Given the description of an element on the screen output the (x, y) to click on. 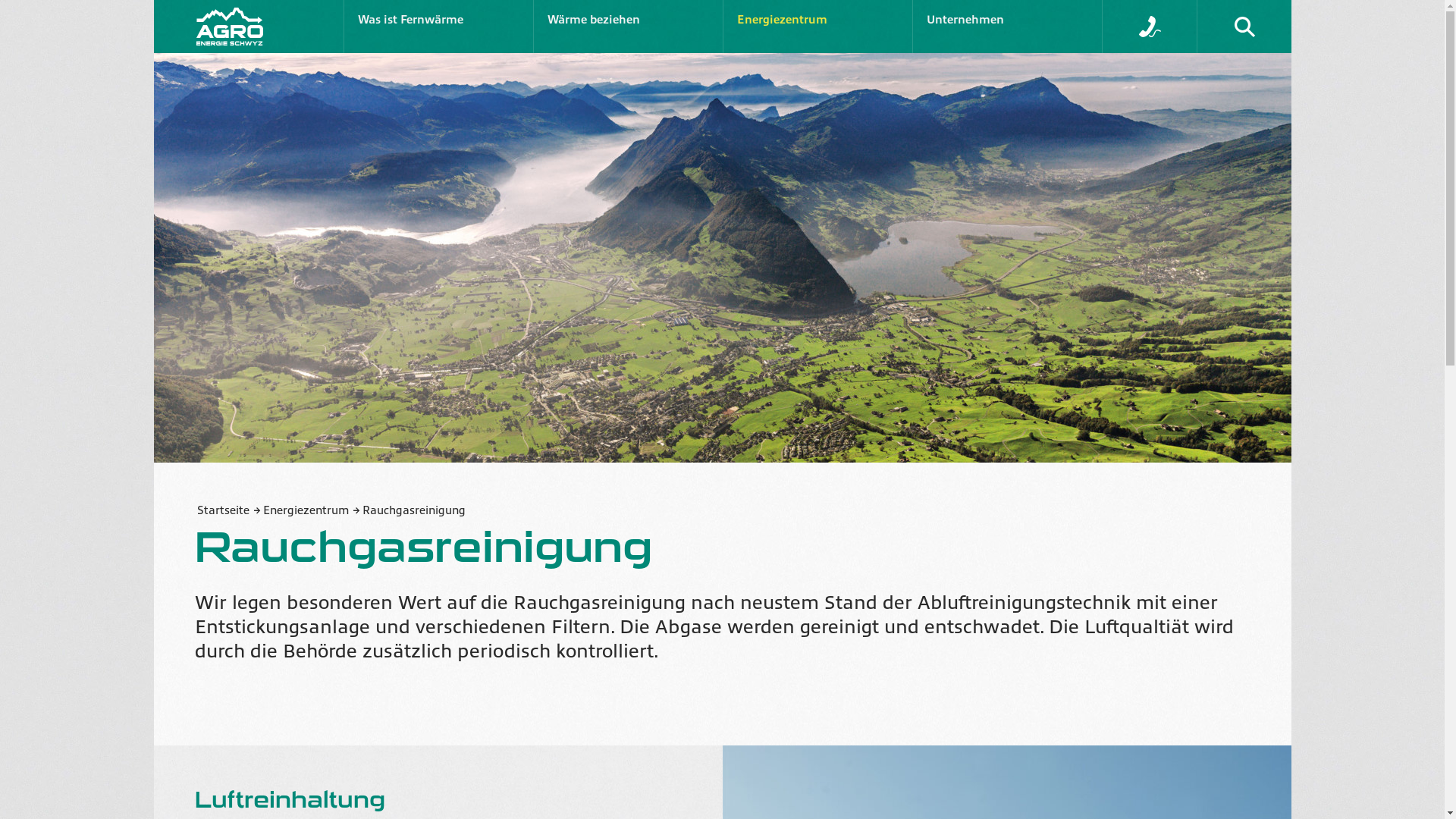
Suche Element type: text (1243, 26)
Startseite Element type: text (228, 510)
Unternehmen Element type: text (1007, 26)
Energiezentrum Element type: text (817, 26)
Agro Energie Schwyz Element type: text (247, 26)
Energiezentrum Element type: text (311, 510)
Kontakt Element type: text (1149, 26)
